Given the description of an element on the screen output the (x, y) to click on. 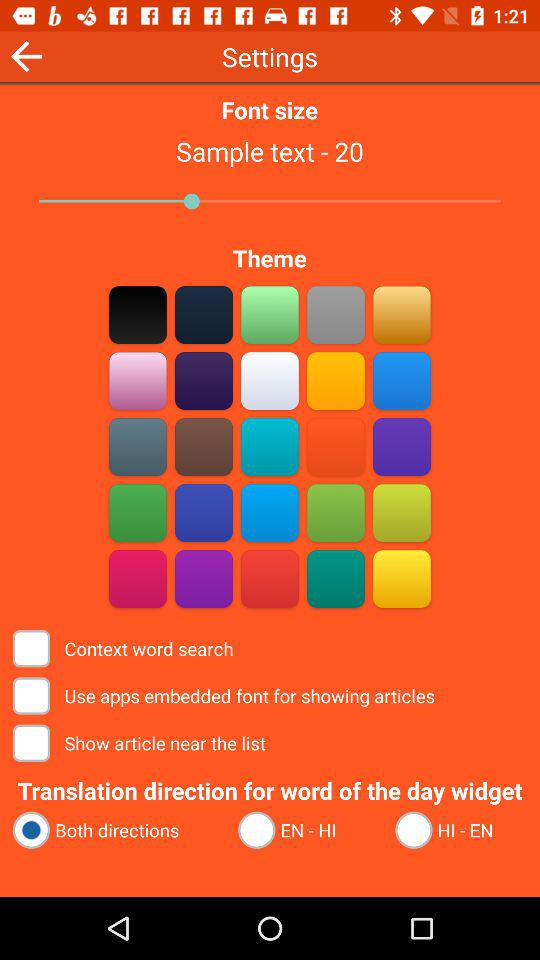
change color (335, 380)
